Given the description of an element on the screen output the (x, y) to click on. 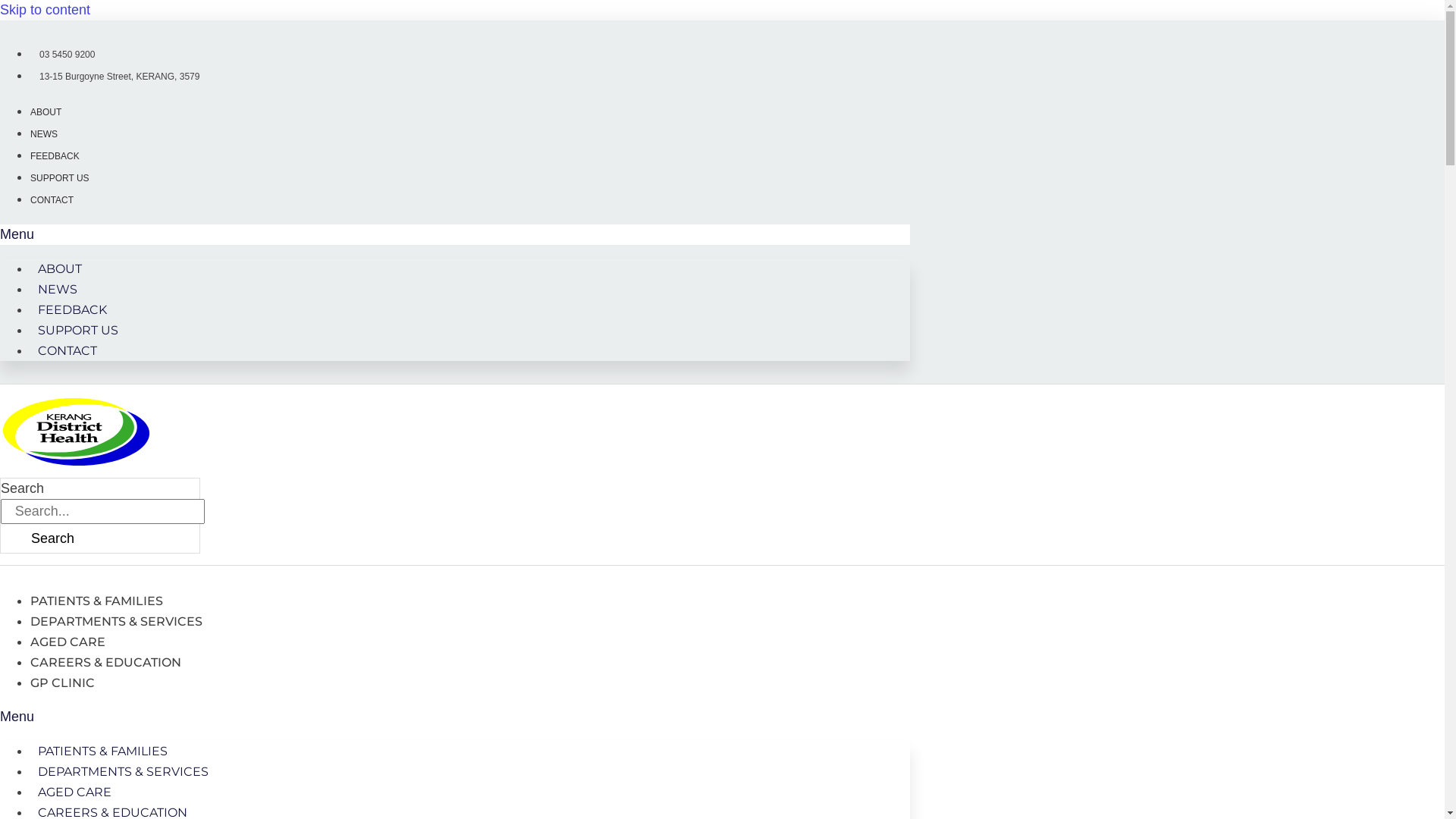
ABOUT Element type: text (45, 111)
NEWS Element type: text (43, 133)
SUPPORT US Element type: text (77, 329)
03 5450 9200 Element type: text (62, 54)
AGED CARE Element type: text (74, 791)
DEPARTMENTS & SERVICES Element type: text (123, 771)
PATIENTS & FAMILIES Element type: text (102, 750)
CONTACT Element type: text (51, 199)
CAREERS & EDUCATION Element type: text (105, 662)
13-15 Burgoyne Street, KERANG, 3579 Element type: text (114, 76)
PATIENTS & FAMILIES Element type: text (96, 600)
ABOUT Element type: text (59, 268)
AGED CARE Element type: text (67, 641)
FEEDBACK Element type: text (72, 309)
NEWS Element type: text (57, 288)
CONTACT Element type: text (67, 350)
GP CLINIC Element type: text (62, 682)
DEPARTMENTS & SERVICES Element type: text (116, 621)
FEEDBACK Element type: text (54, 155)
Skip to content Element type: text (45, 9)
Search Element type: text (52, 538)
SUPPORT US Element type: text (59, 177)
